Given the description of an element on the screen output the (x, y) to click on. 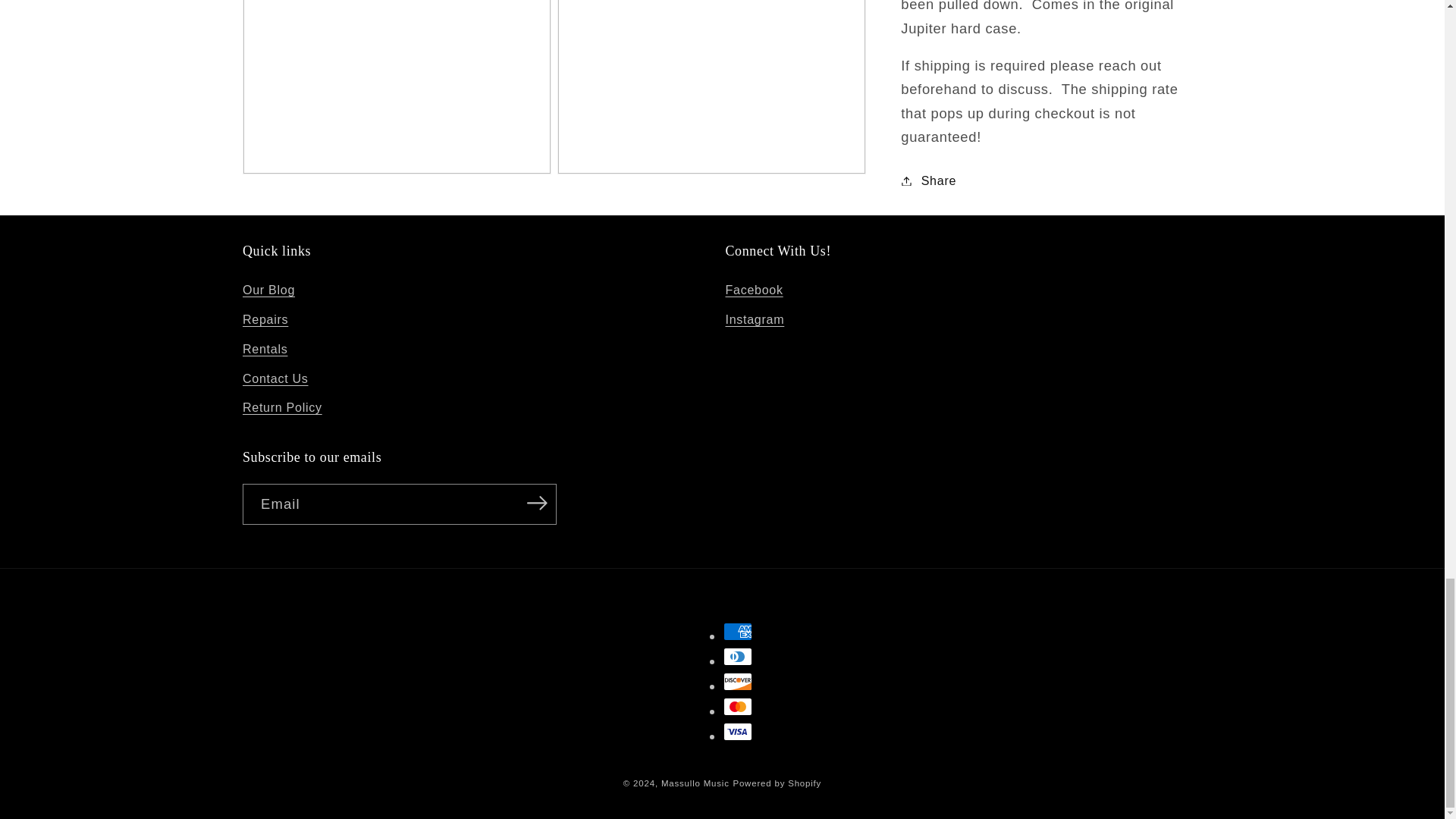
Diners Club (737, 656)
American Express (737, 631)
Visa (737, 731)
Discover (737, 681)
Mastercard (737, 706)
